Given the description of an element on the screen output the (x, y) to click on. 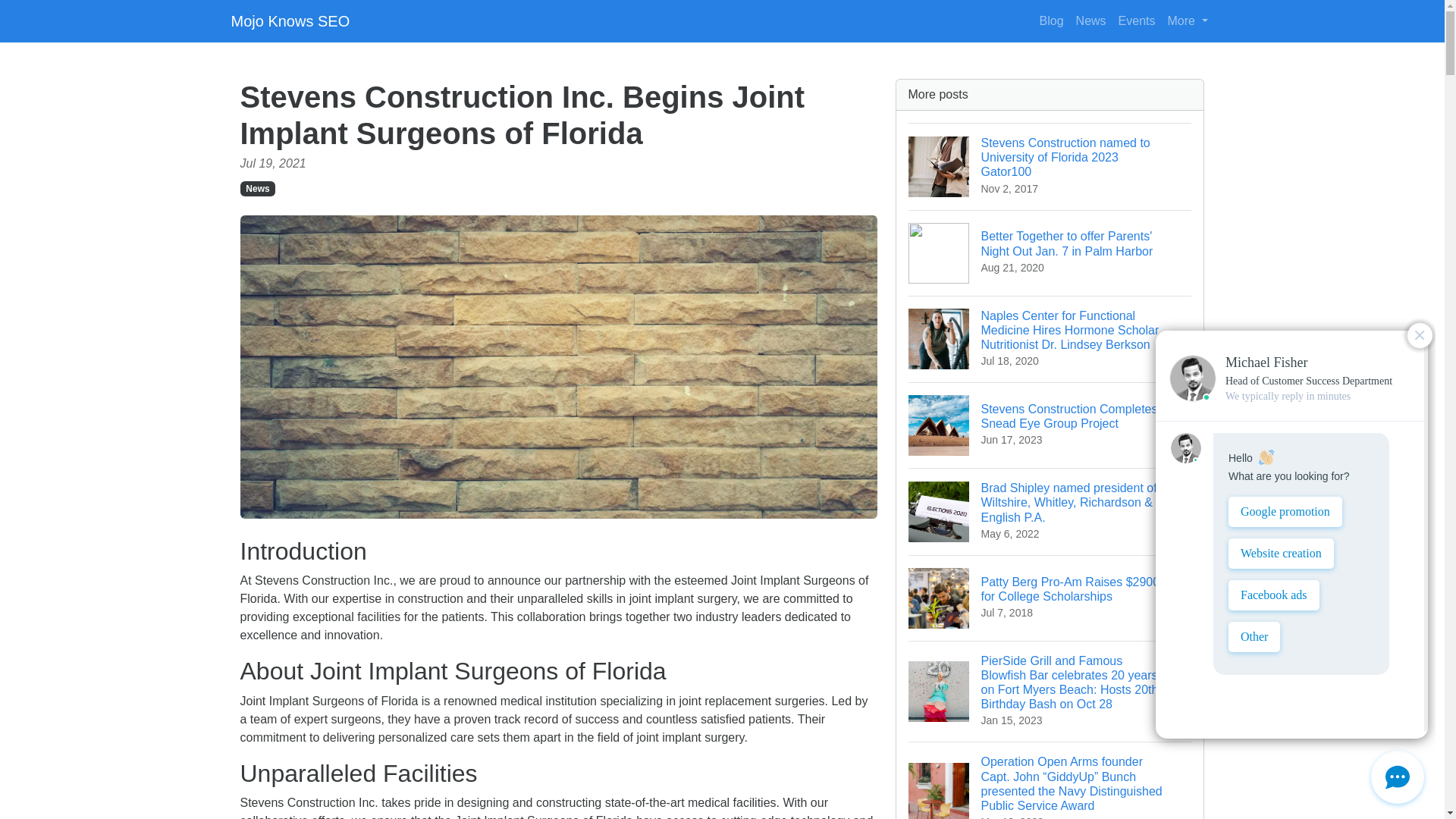
Mojo Knows SEO (289, 20)
Blog (1051, 20)
More (1187, 20)
News (257, 188)
News (1091, 20)
Events (1136, 20)
